Given the description of an element on the screen output the (x, y) to click on. 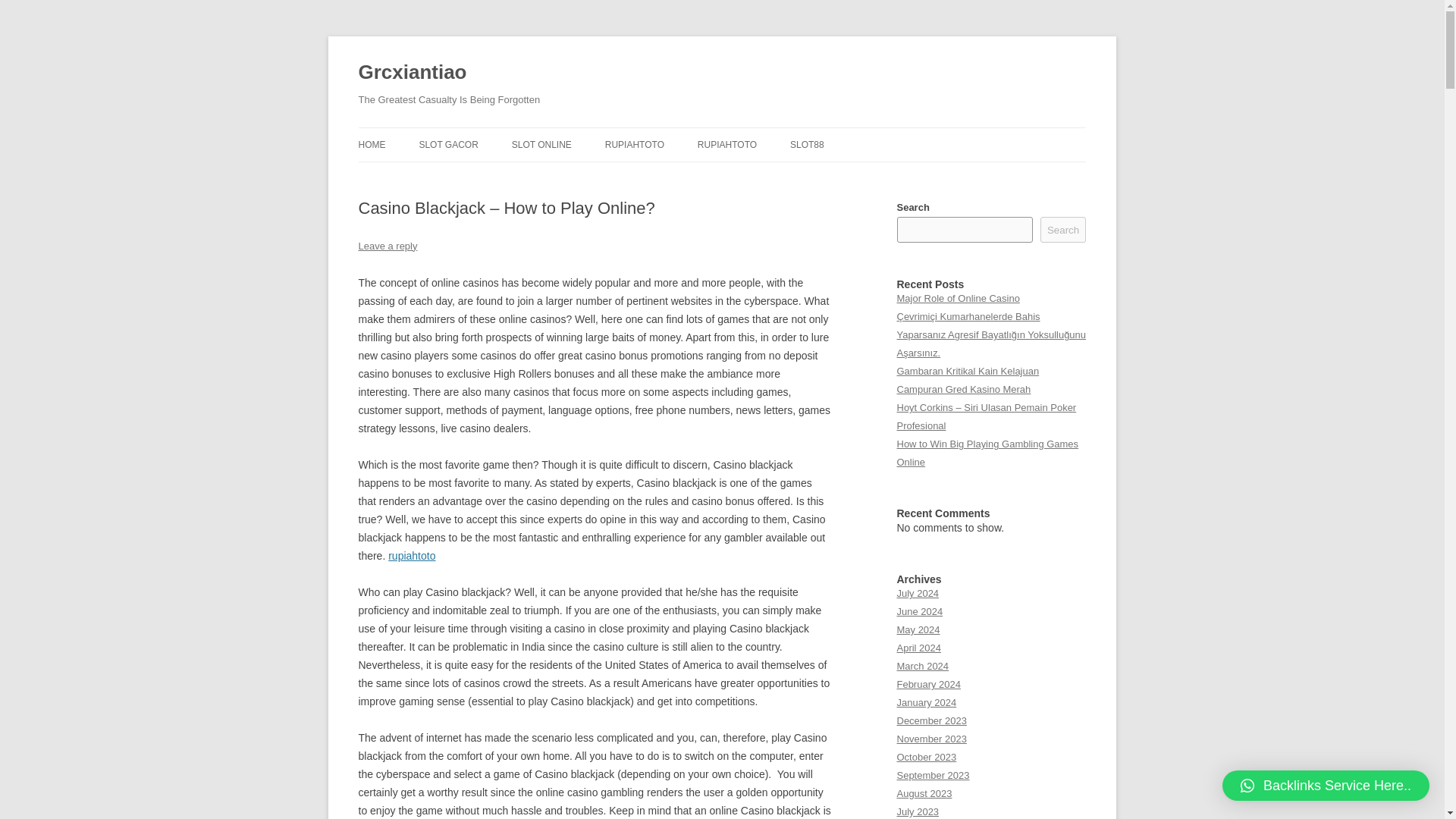
September 2023 (932, 775)
July 2024 (917, 593)
January 2024 (926, 702)
RUPIAHTOTO (634, 144)
rupiahtoto (411, 555)
August 2023 (924, 793)
How to Win Big Playing Gambling Games Online (987, 452)
SLOT88 (807, 144)
July 2023 (917, 811)
October 2023 (926, 756)
June 2024 (919, 611)
Major Role of Online Casino (957, 297)
Grcxiantiao (411, 72)
February 2024 (927, 684)
